Given the description of an element on the screen output the (x, y) to click on. 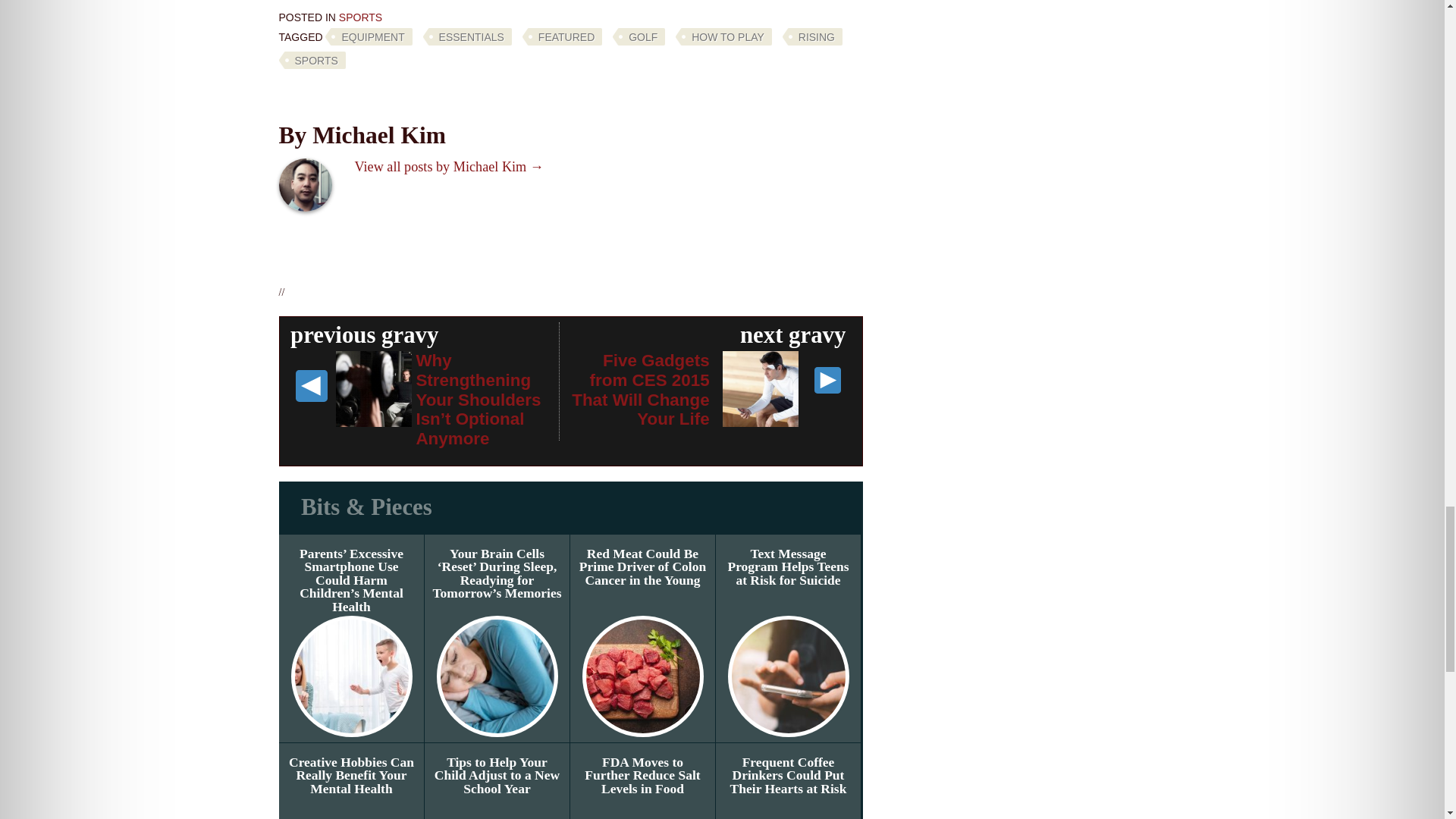
HOW TO PLAY (723, 36)
SPORTS (360, 17)
GOLF (638, 36)
EQUIPMENT (368, 36)
ESSENTIALS (467, 36)
SPORTS (312, 59)
FEATURED (562, 36)
RISING (813, 36)
